Given the description of an element on the screen output the (x, y) to click on. 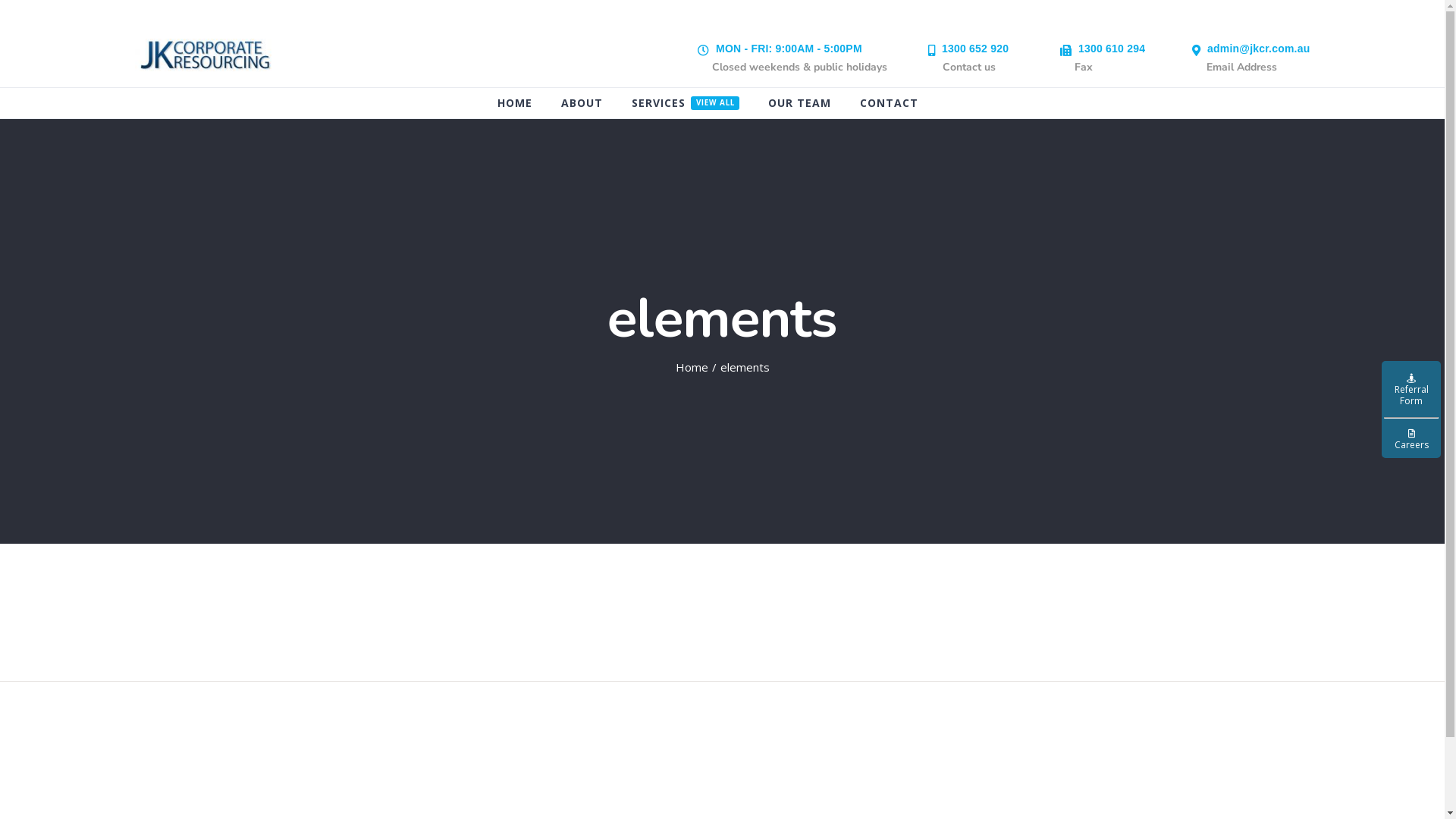
SERVICES
VIEW ALL Element type: text (685, 102)
CONTACT Element type: text (888, 102)
MON - FRI: 9:00AM - 5:00PM Element type: text (788, 48)
ABOUT Element type: text (581, 102)
admin@jkcr.com.au Element type: text (1258, 48)
OUR TEAM Element type: text (799, 102)
Careers Element type: text (1410, 439)
HOME Element type: text (514, 102)
Referral Form Element type: text (1410, 387)
Home Element type: text (690, 366)
1300 652 920 Element type: text (974, 48)
1300 610 294 Element type: text (1111, 48)
